Given the description of an element on the screen output the (x, y) to click on. 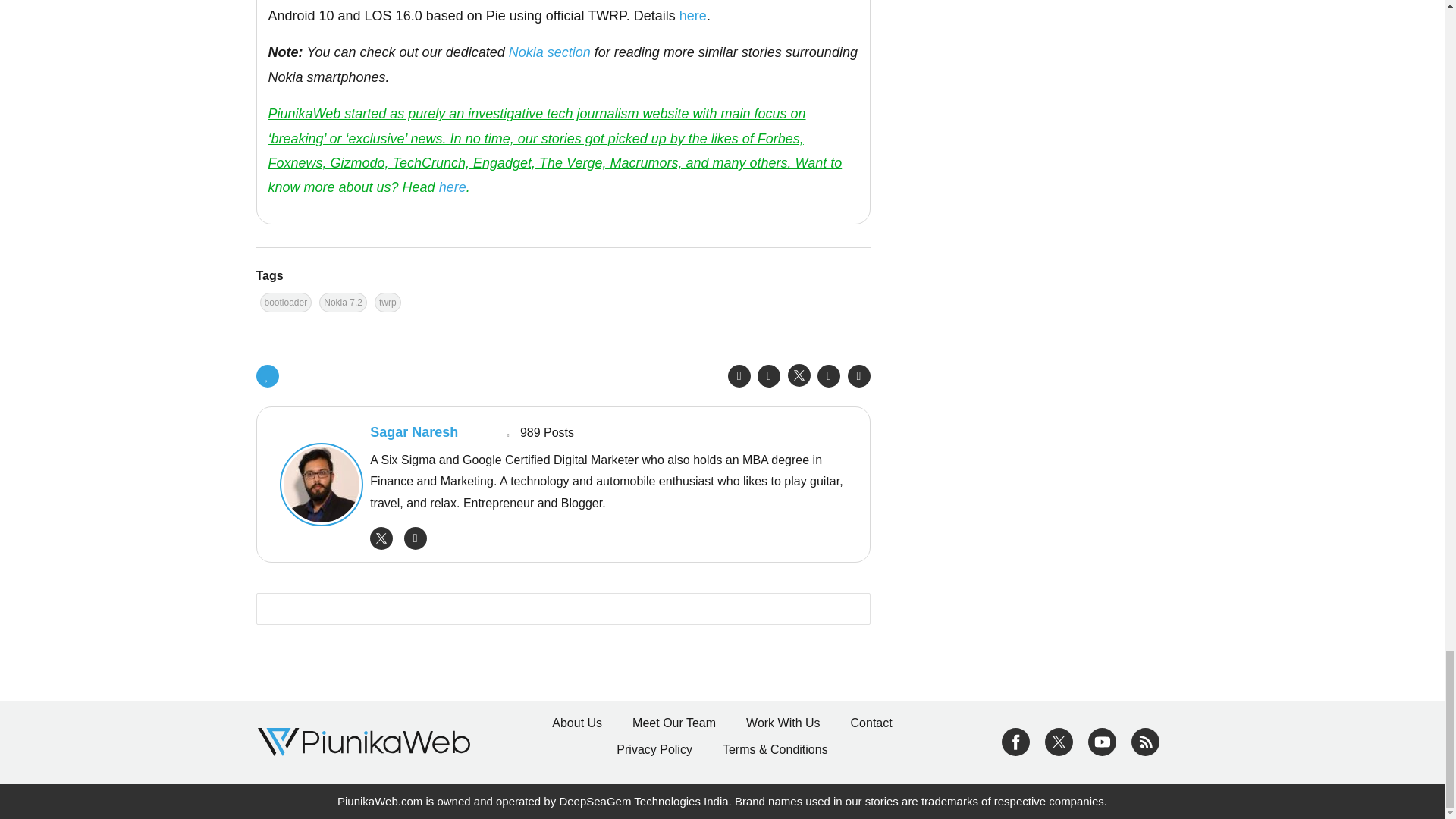
bootloader (285, 302)
Feed (1144, 740)
Facebook (1015, 740)
X (1059, 740)
Sagar Naresh (317, 484)
twrp (387, 302)
YouTube (1101, 740)
Love (267, 375)
Nokia 7.2 (342, 302)
